Given the description of an element on the screen output the (x, y) to click on. 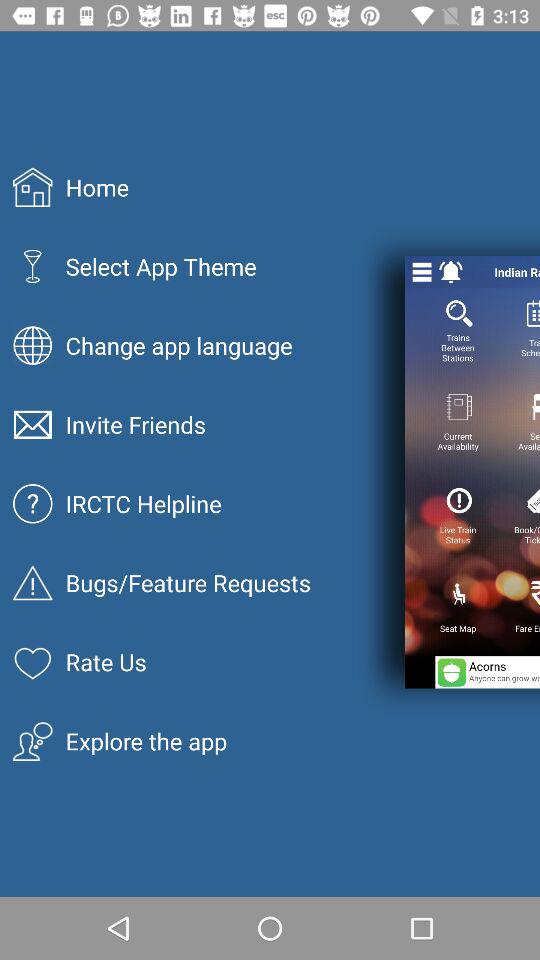
tap item to the left of the indian railways item (450, 271)
